Given the description of an element on the screen output the (x, y) to click on. 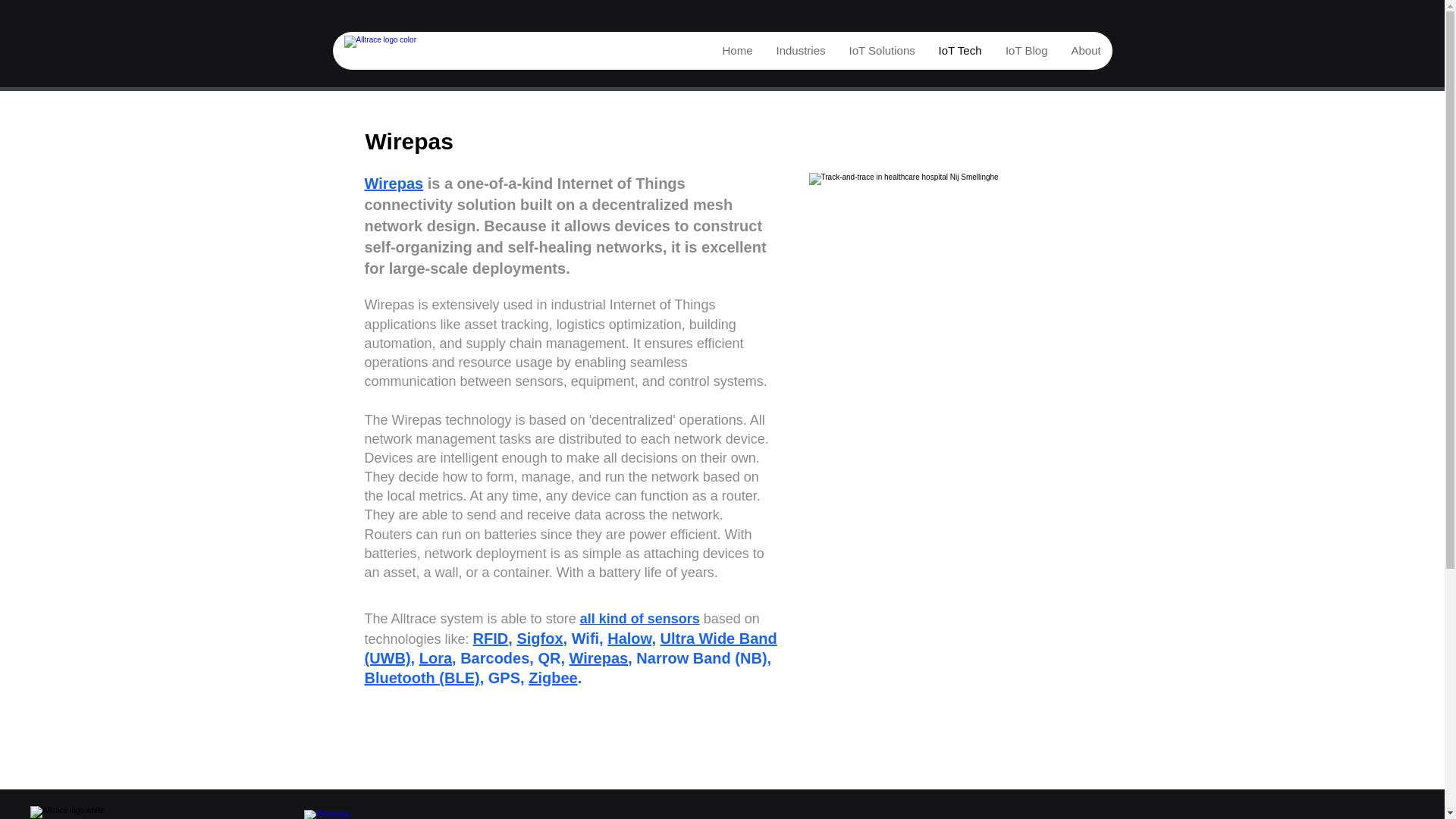
Wirepas (598, 658)
Wireps based track an trace in a hospital (946, 264)
Lora (435, 658)
Zigbee (552, 677)
Home (736, 50)
IoT Blog (1025, 50)
Sigfox (539, 638)
Industries (800, 50)
all kind of sensors (639, 618)
RFID (490, 638)
